Given the description of an element on the screen output the (x, y) to click on. 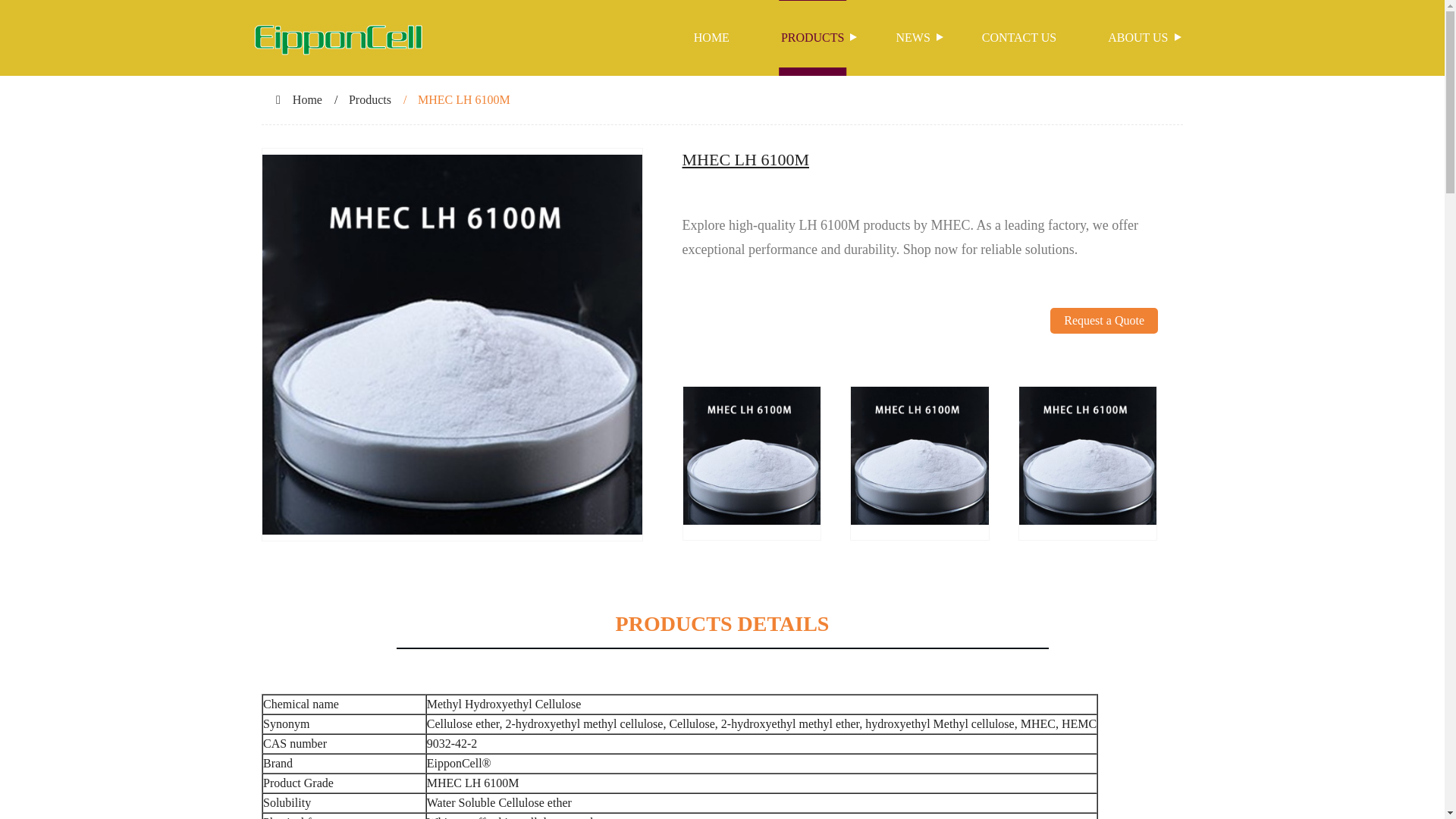
PRODUCTS (812, 38)
Request a Quote (1103, 346)
Home (306, 99)
CONTACT US (1018, 38)
Products (370, 99)
